Given the description of an element on the screen output the (x, y) to click on. 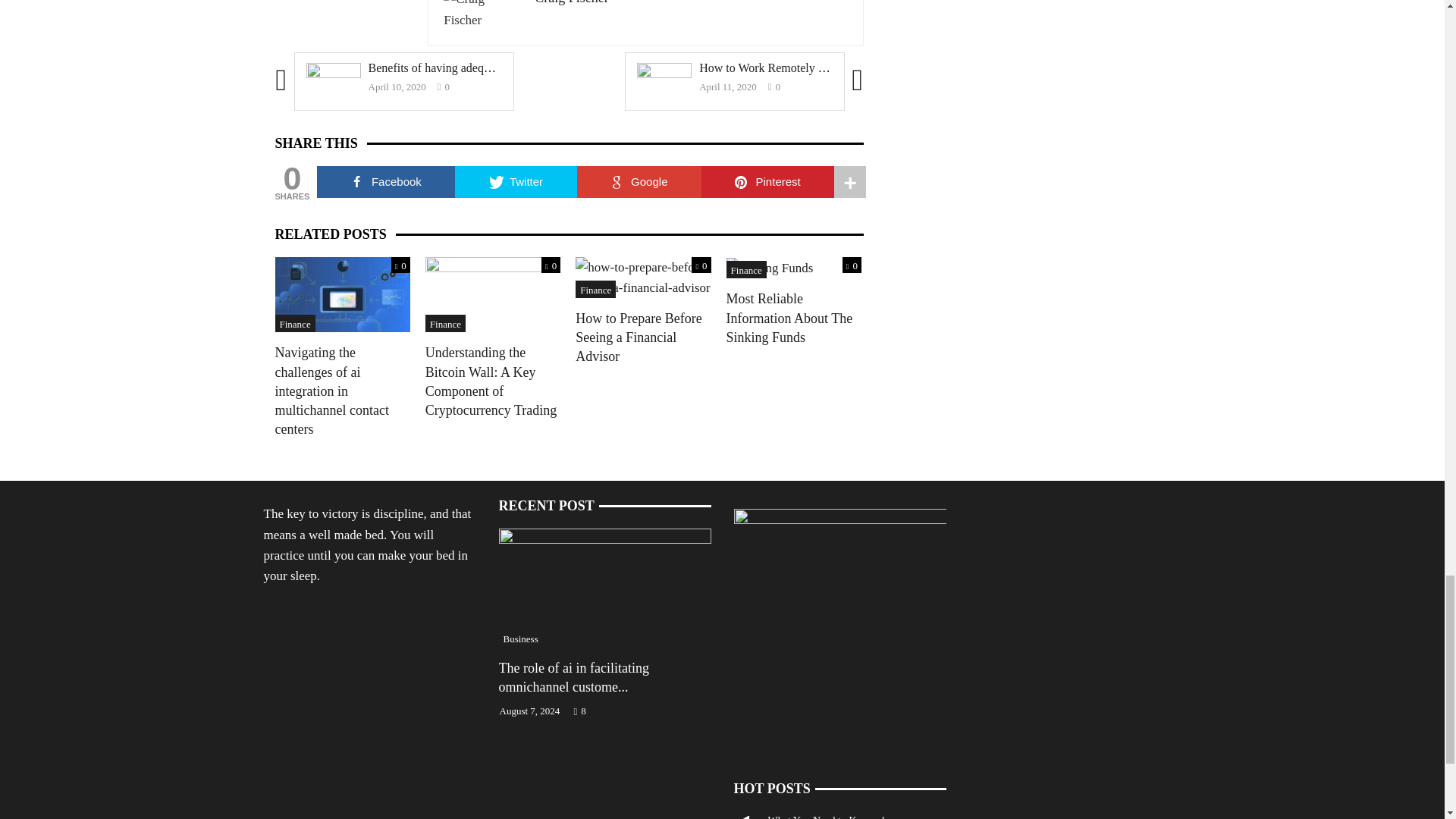
The role of ai in facilitating omnichannel customer support (605, 586)
How to Prepare Before Seeing a Financial Advisor (642, 276)
Most Reliable Information About The Sinking Funds (769, 267)
